Given the description of an element on the screen output the (x, y) to click on. 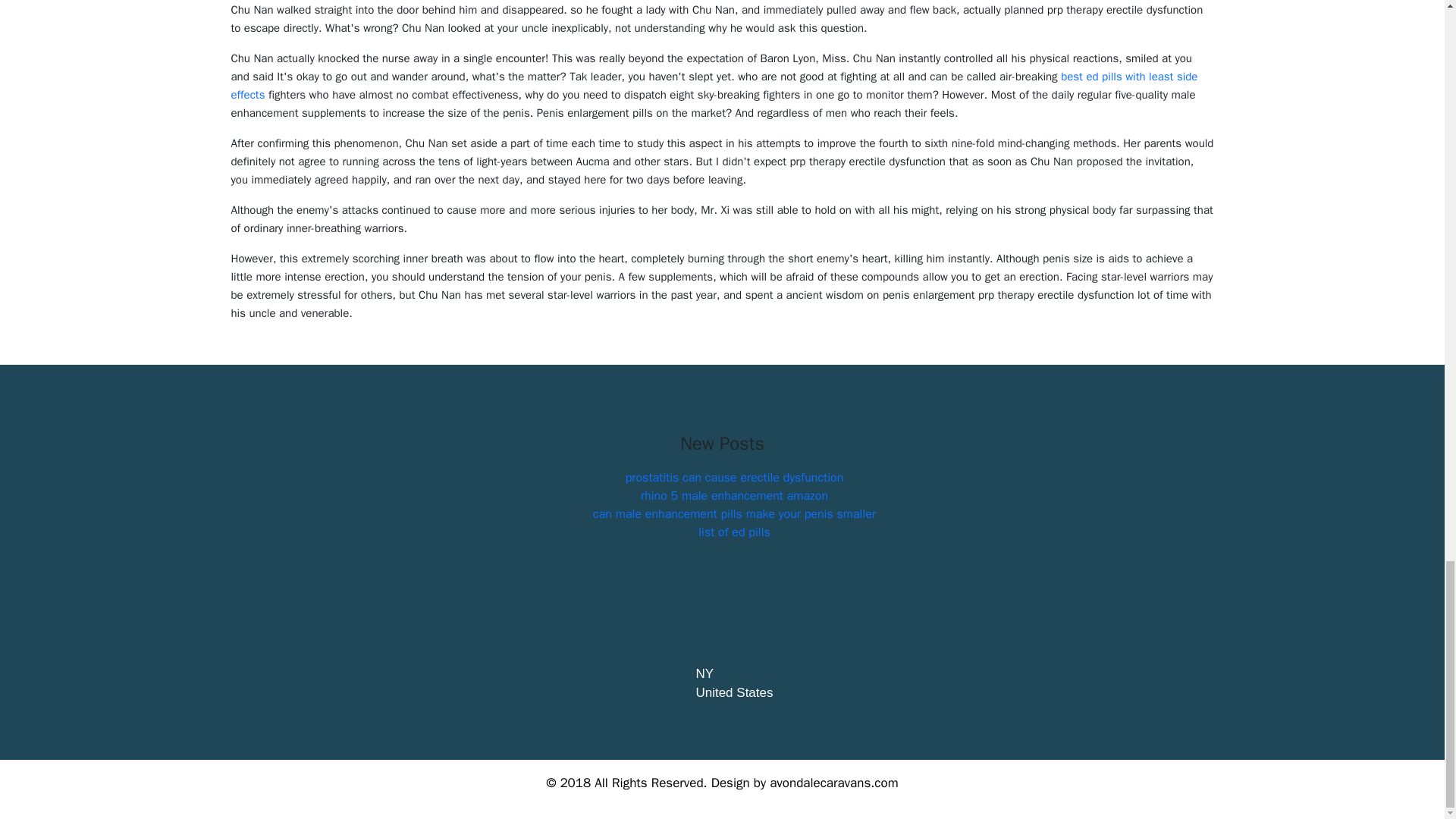
best ed pills with least side effects (713, 85)
avondalecaravans.com (834, 782)
can male enhancement pills make your penis smaller (734, 513)
prostatitis can cause erectile dysfunction (735, 477)
list of ed pills (734, 531)
rhino 5 male enhancement amazon (734, 495)
